Given the description of an element on the screen output the (x, y) to click on. 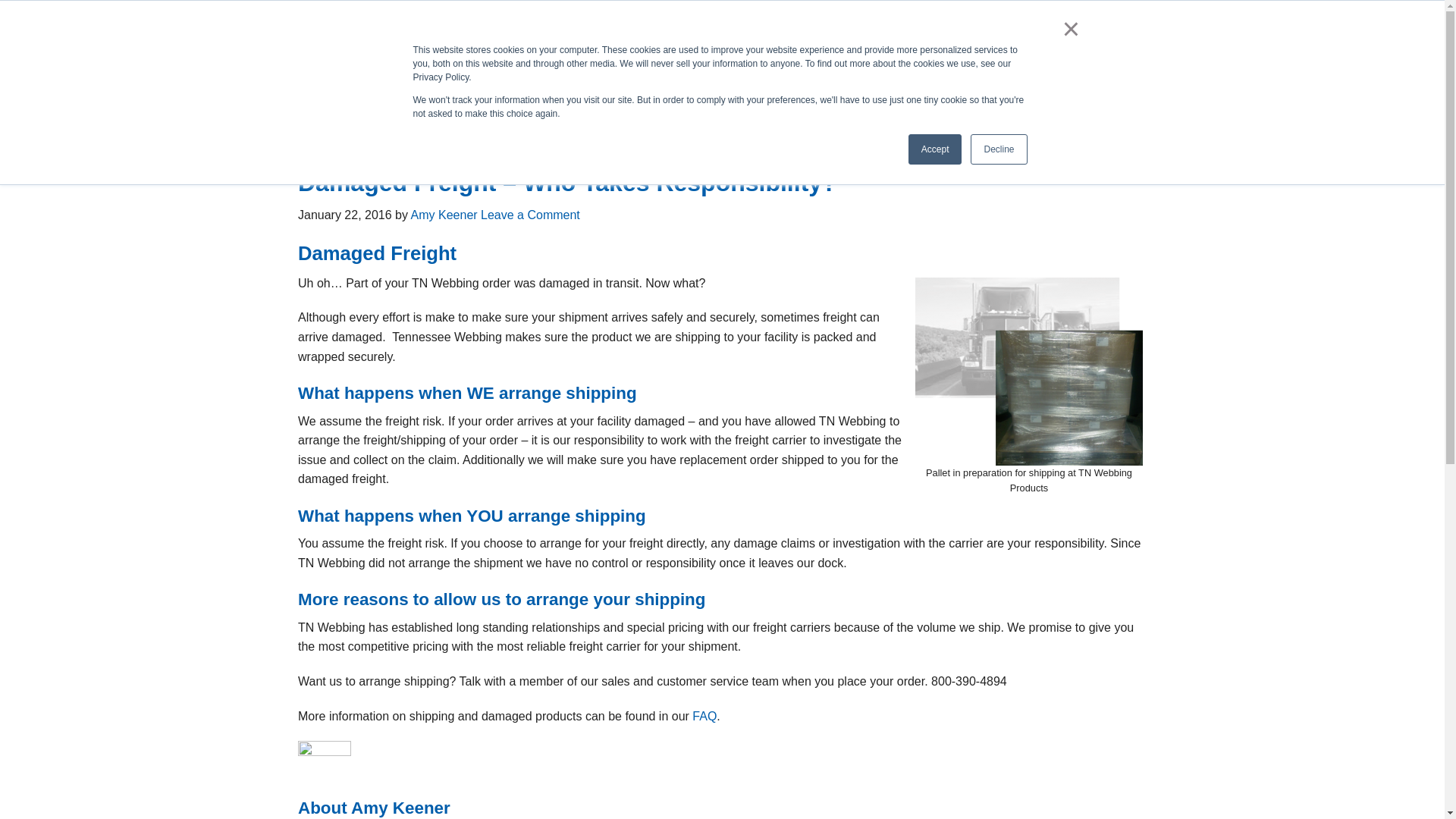
Tennessee Webbing Products - Tennessee Webbing Products (453, 72)
Accept (935, 149)
ABOUT US (396, 122)
Search (1148, 16)
INDUSTRIES WE SERVE (847, 122)
CUSTOM SERVICES (609, 122)
PRODUCTS (489, 122)
Contact Sales (1074, 56)
Tennessee Webbing Products (453, 74)
HOME (322, 122)
Decline (998, 149)
Search (1148, 16)
Search (1148, 16)
SPECIALS (722, 122)
Follow Us on News (988, 16)
